Given the description of an element on the screen output the (x, y) to click on. 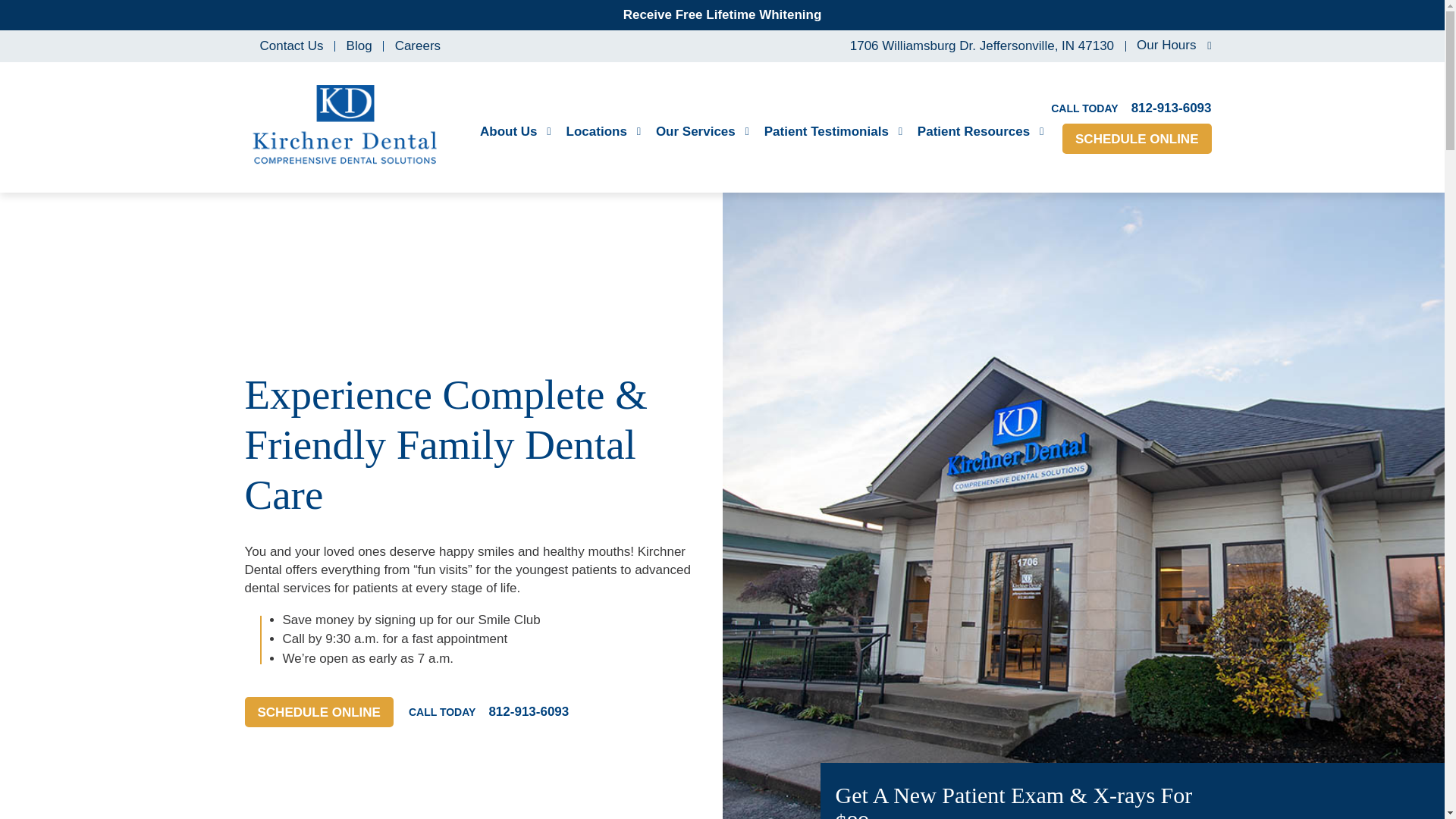
About Us (515, 131)
Blog (359, 45)
Locations (603, 131)
Receive Free Lifetime Whitening (722, 14)
Contact Us (291, 45)
Careers (417, 45)
1706 Williamsburg Dr. Jeffersonville, IN 47130 (978, 45)
